Given the description of an element on the screen output the (x, y) to click on. 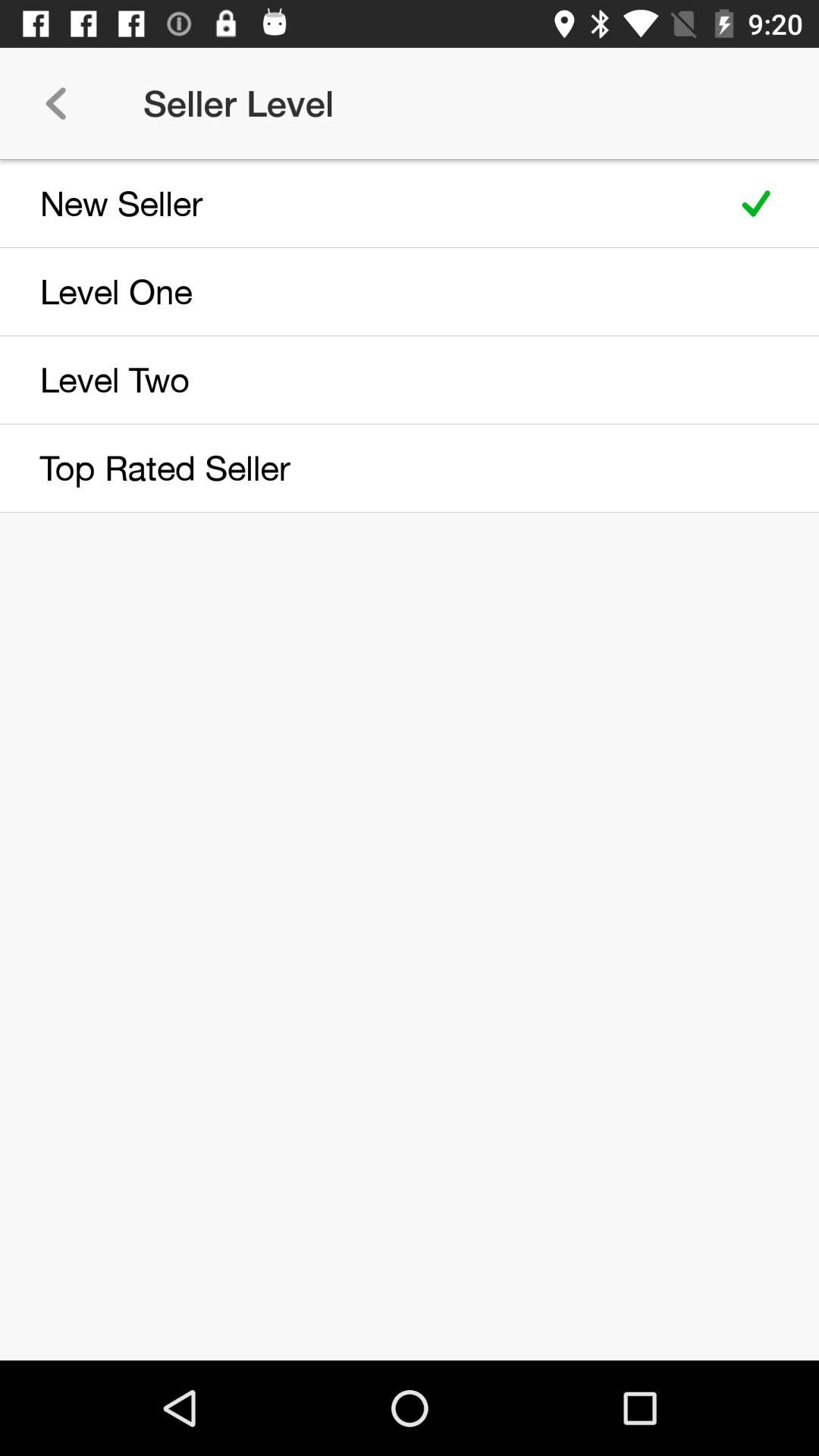
choose icon next to the seller level item (55, 103)
